Given the description of an element on the screen output the (x, y) to click on. 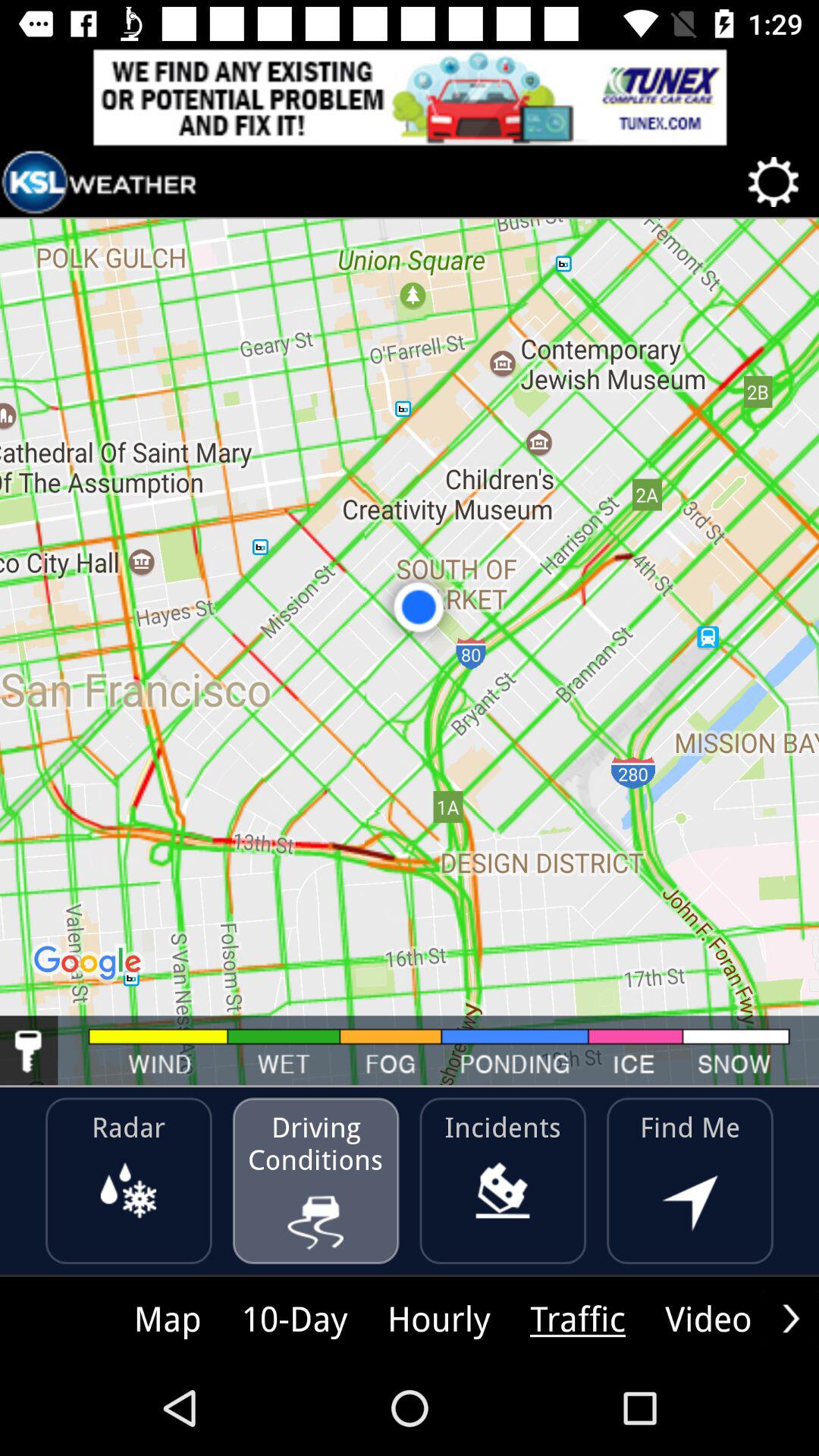
advertisement (409, 97)
